Given the description of an element on the screen output the (x, y) to click on. 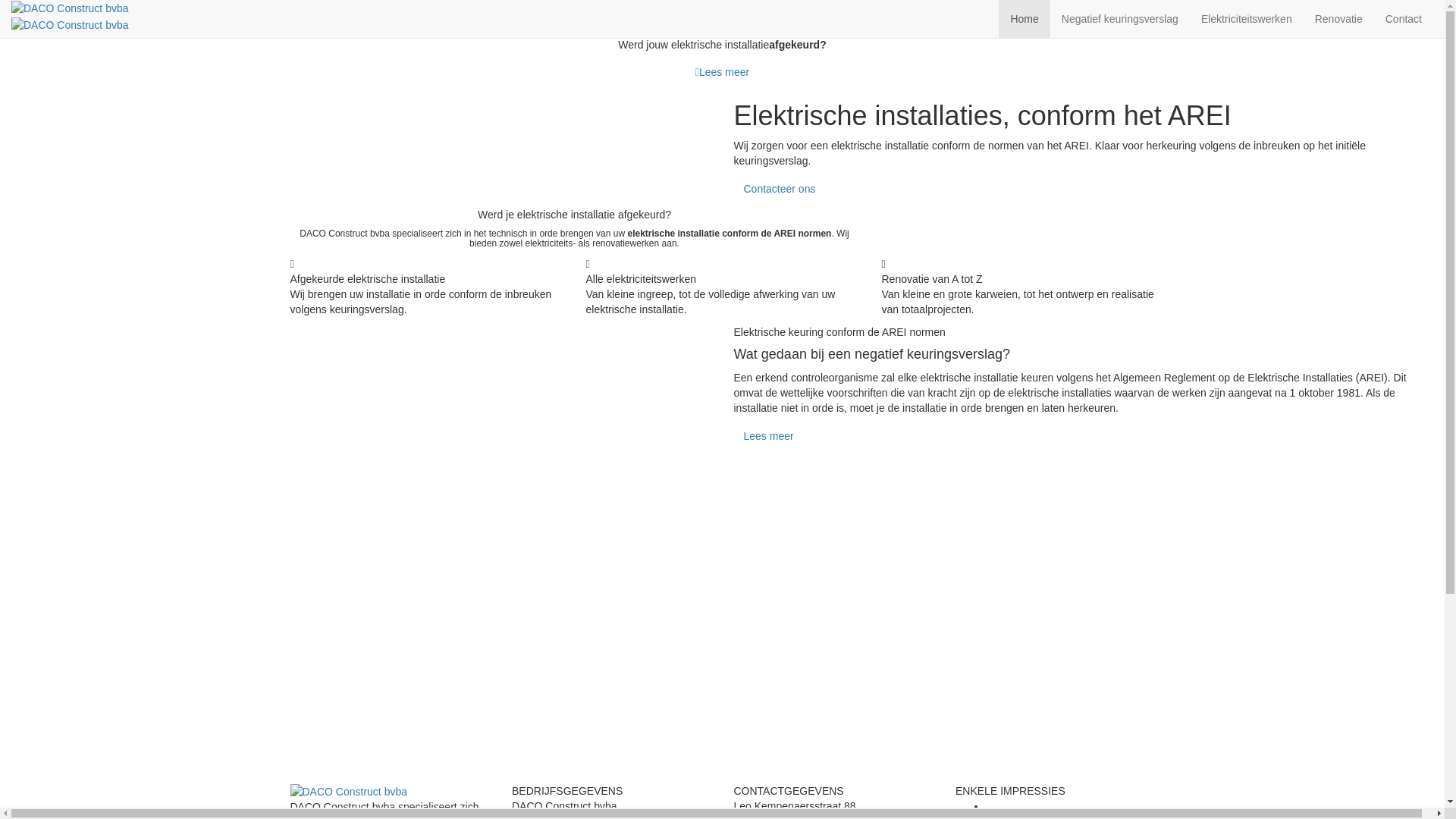
Home Element type: text (1023, 18)
Elektriciteitswerken Element type: text (1246, 18)
Lees meer Element type: text (722, 71)
Contacteer ons Element type: text (779, 188)
Renovatie Element type: text (1338, 18)
Negatief keuringsverslag Element type: text (1119, 18)
Contact Element type: text (1403, 18)
Lees meer Element type: text (768, 435)
Ga naar de homepage Element type: hover (69, 15)
